Given the description of an element on the screen output the (x, y) to click on. 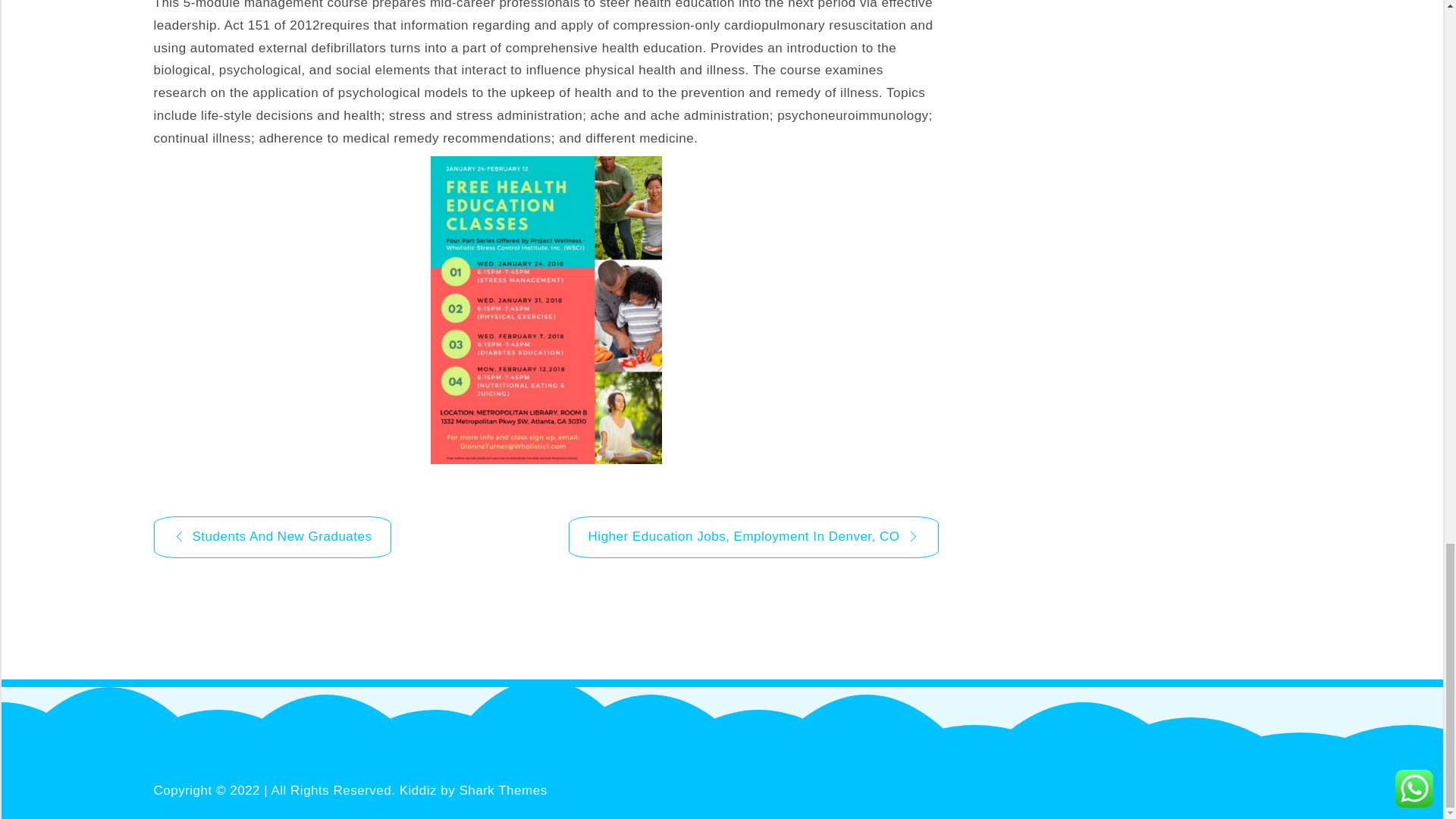
Shark Themes (502, 789)
Higher Education Jobs, Employment In Denver, CO (754, 536)
Students And New Graduates (271, 536)
